Given the description of an element on the screen output the (x, y) to click on. 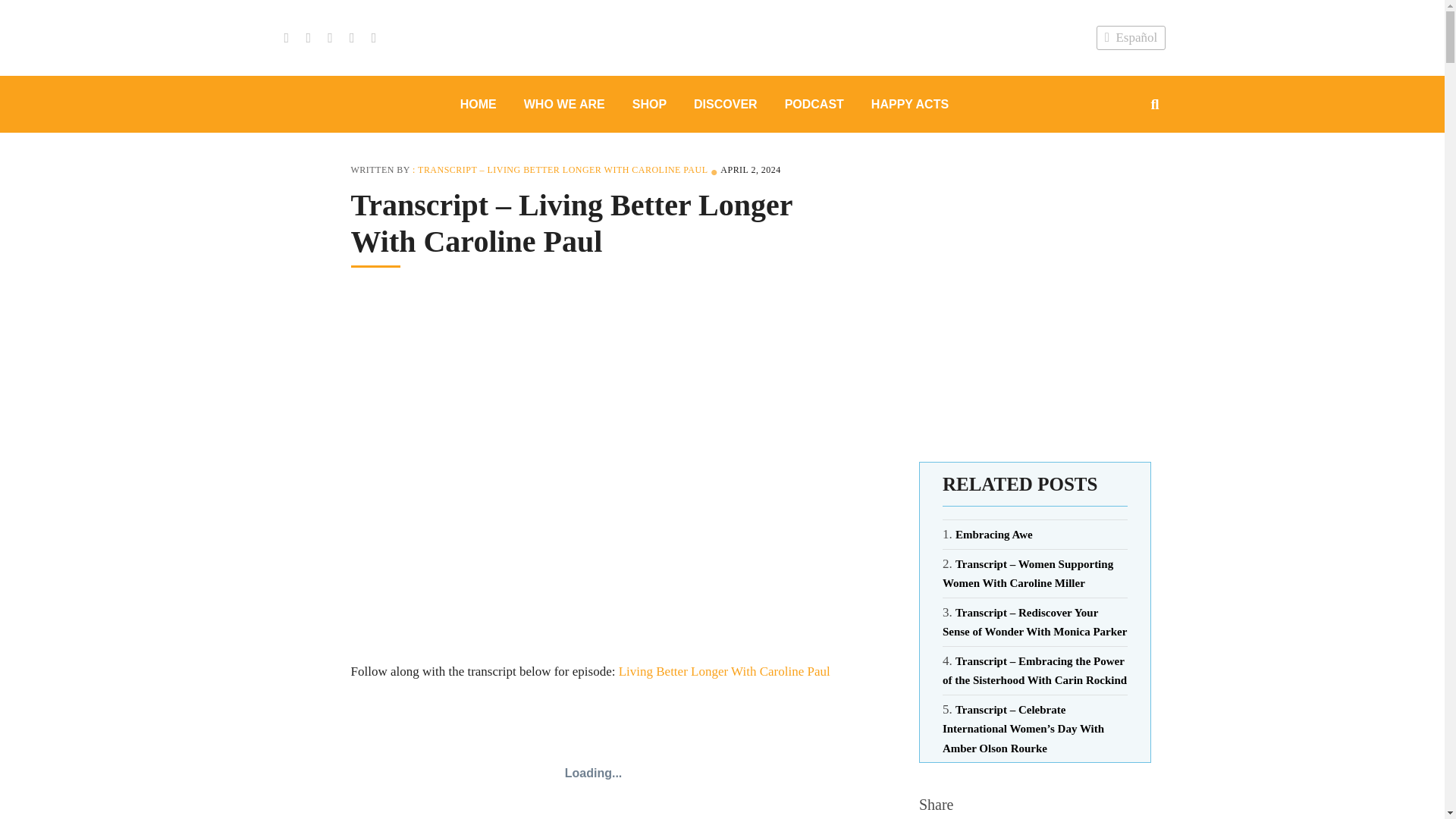
SHOP (648, 103)
HAPPY ACTS (909, 103)
DISCOVER (725, 103)
WHO WE ARE (564, 103)
PODCAST (814, 103)
Embed Player (592, 760)
HOME (478, 103)
